Given the description of an element on the screen output the (x, y) to click on. 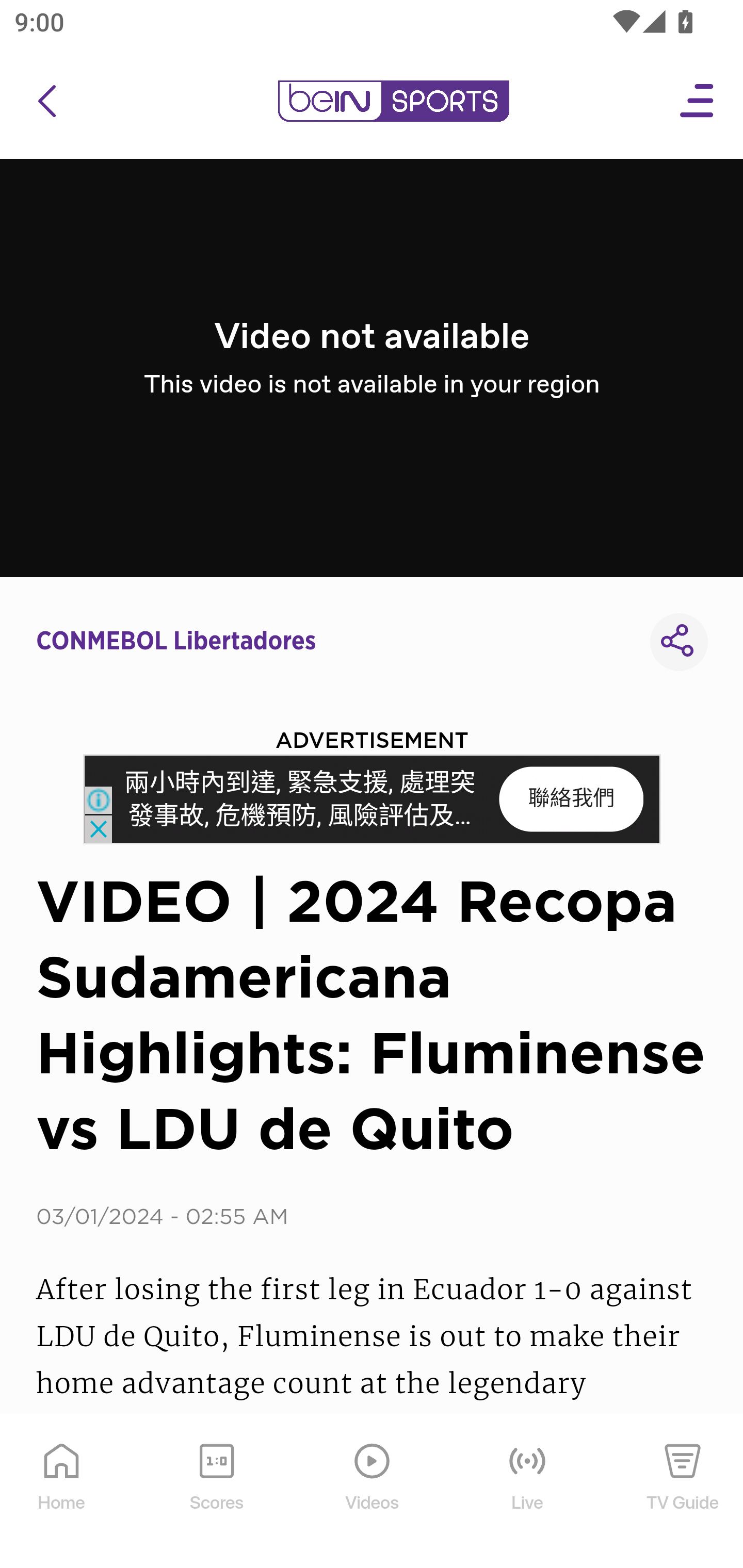
en-us?platform=mobile_android bein logo (392, 101)
icon back (46, 101)
Open Menu Icon (697, 101)
Home Home Icon Home (61, 1491)
Scores Scores Icon Scores (216, 1491)
Videos Videos Icon Videos (372, 1491)
TV Guide TV Guide Icon TV Guide (682, 1491)
